Given the description of an element on the screen output the (x, y) to click on. 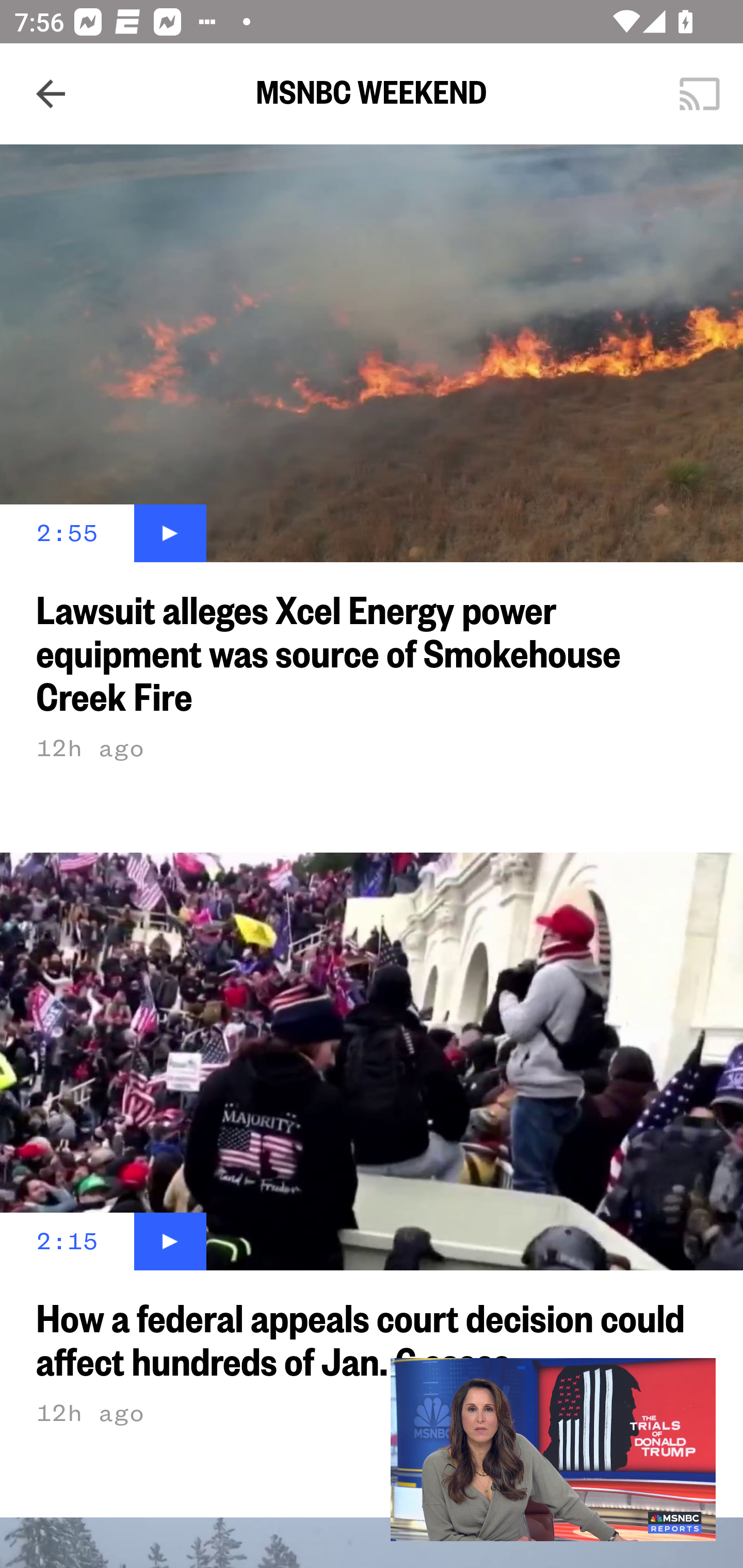
Navigate up (50, 93)
Cast. Disconnected (699, 93)
